Given the description of an element on the screen output the (x, y) to click on. 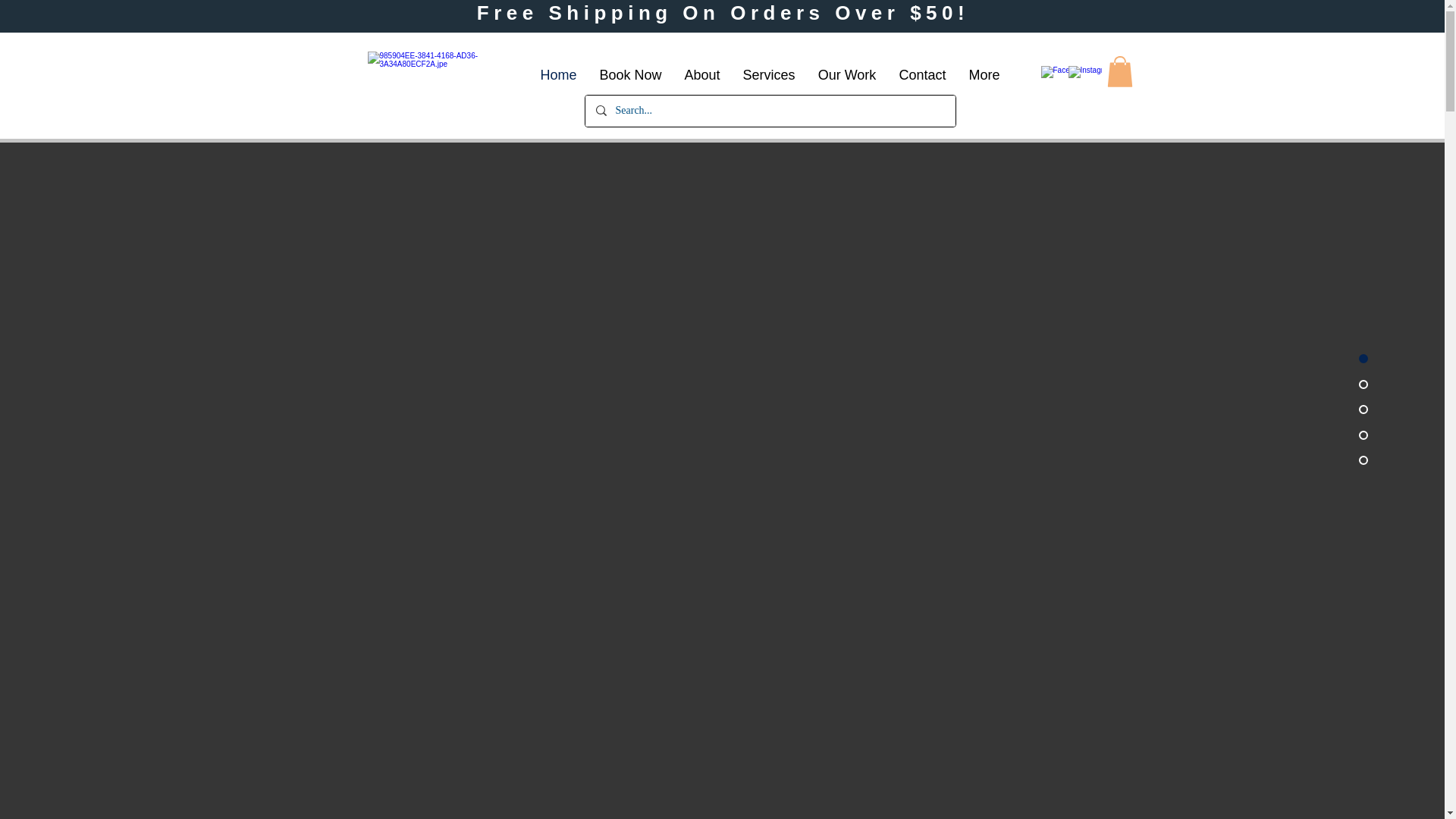
Contact (921, 75)
Book Now (630, 75)
Services (768, 75)
Home (558, 75)
About (702, 75)
Our Work (847, 75)
